Given the description of an element on the screen output the (x, y) to click on. 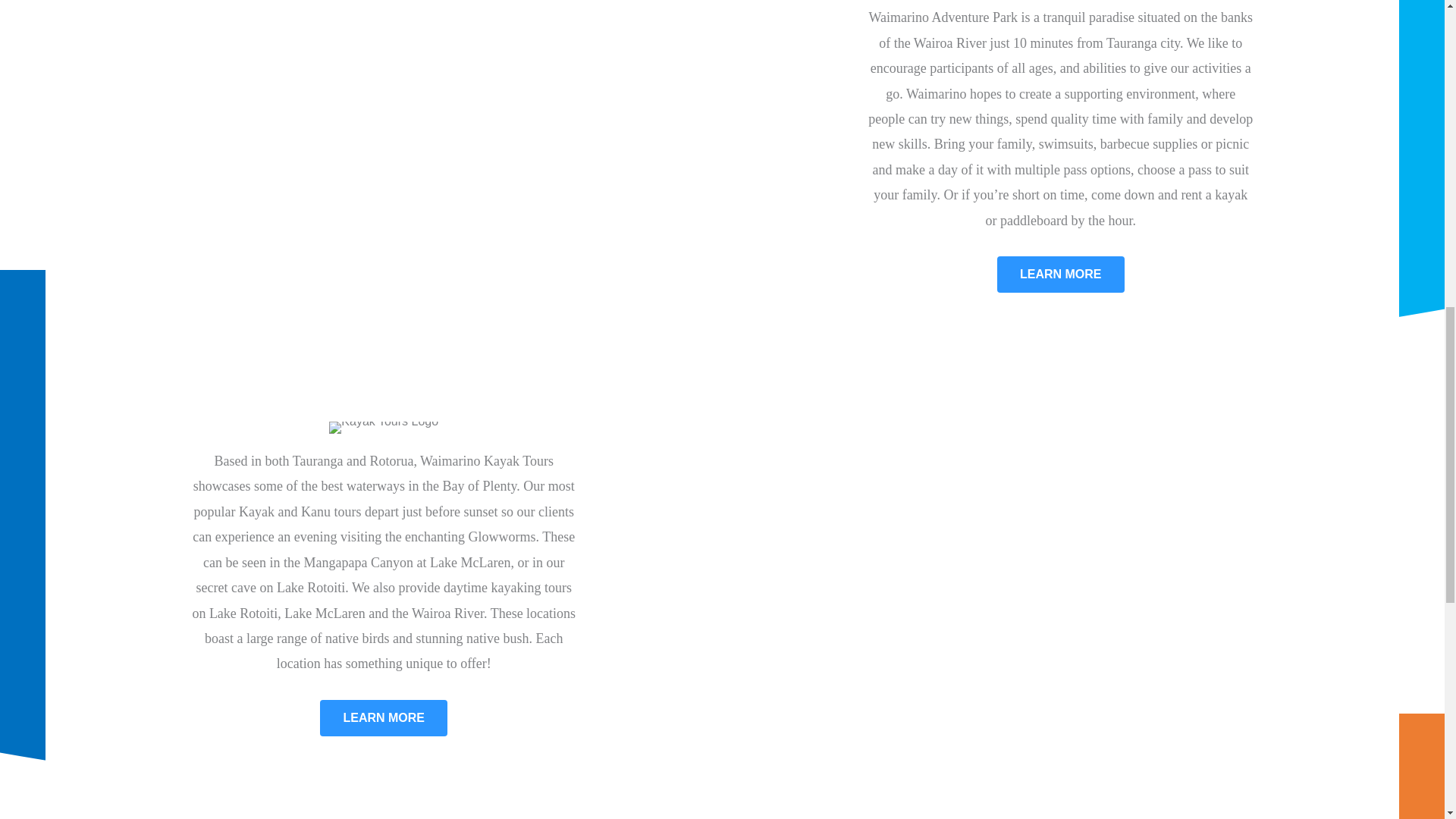
Click Here (383, 718)
LEARN MORE (1060, 274)
Kayak Tours Logo (383, 427)
LEARN MORE (383, 718)
Click Here (1060, 274)
